Given the description of an element on the screen output the (x, y) to click on. 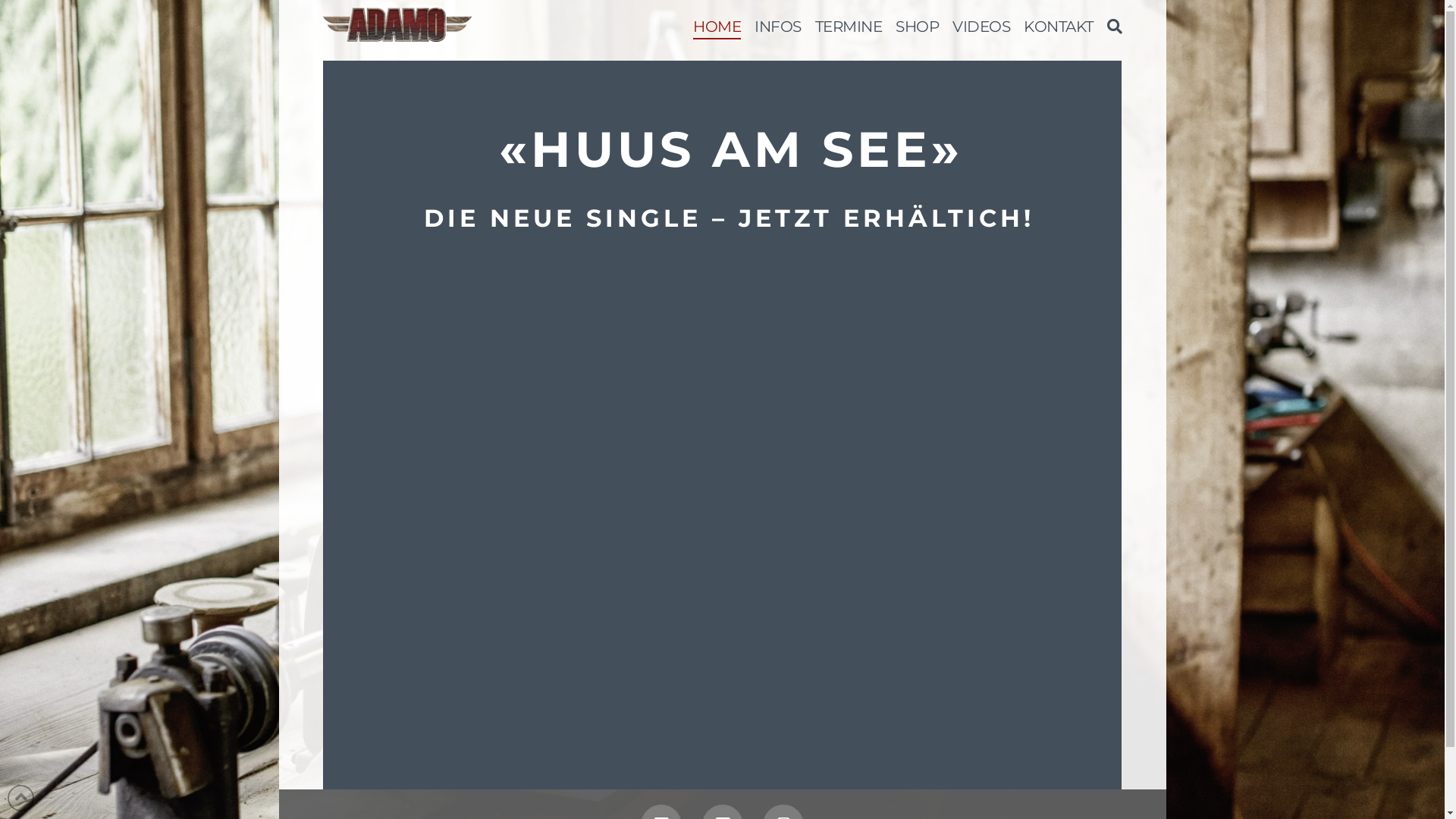
HOME Element type: text (716, 30)
SHOP Element type: text (916, 30)
INFOS Element type: text (777, 30)
VIDEOS Element type: text (980, 30)
TERMINE Element type: text (848, 30)
KONTAKT Element type: text (1058, 30)
Back to Top Element type: hover (20, 797)
